Given the description of an element on the screen output the (x, y) to click on. 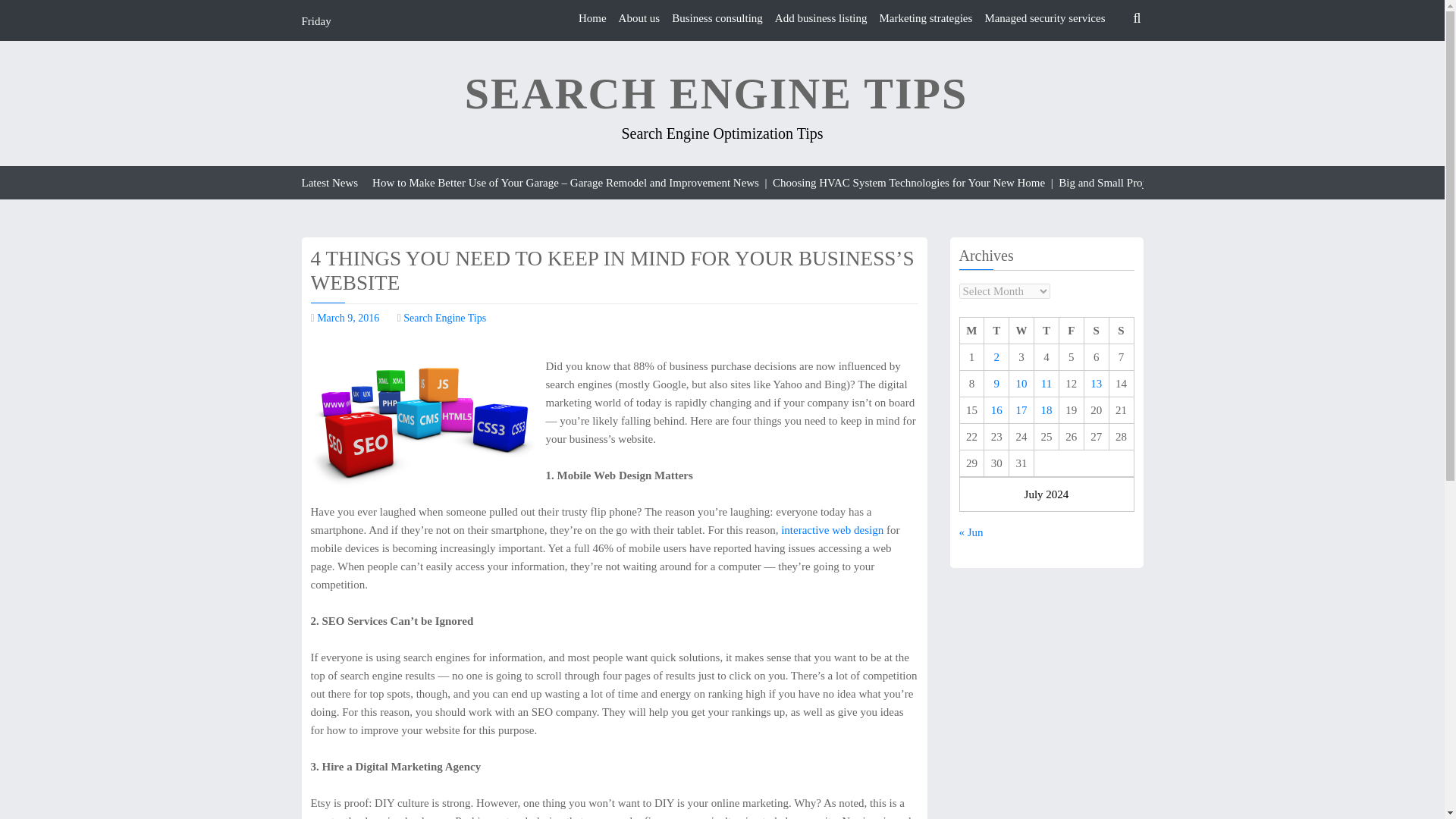
Home (592, 18)
March 9, 2016 (347, 317)
Cool stuff (831, 530)
Wednesday (1021, 330)
Search Engine Tips (444, 317)
About us (639, 18)
Search (1109, 54)
interactive web design (831, 530)
Thursday (1046, 330)
17 (1021, 410)
10 (1021, 383)
Saturday (1095, 330)
Tuesday (996, 330)
Managed security services (1044, 18)
18 (1046, 410)
